Given the description of an element on the screen output the (x, y) to click on. 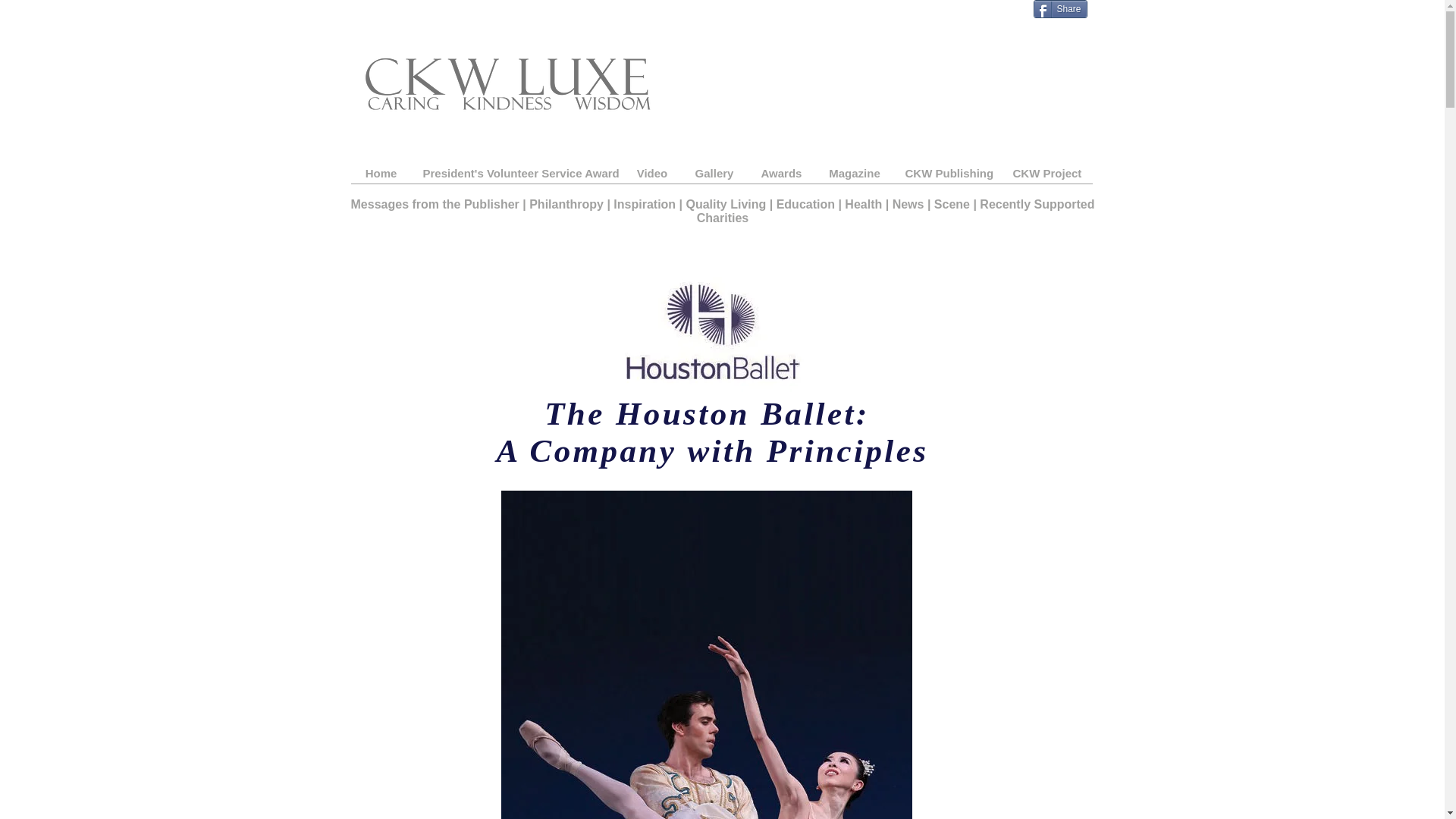
Inspiration  (645, 204)
CKW Project (1046, 178)
Share (1059, 9)
CKW Publishing (947, 178)
Scene  (954, 204)
News (908, 204)
Home (380, 178)
Health (863, 204)
Share (1059, 9)
Education  (807, 204)
